Given the description of an element on the screen output the (x, y) to click on. 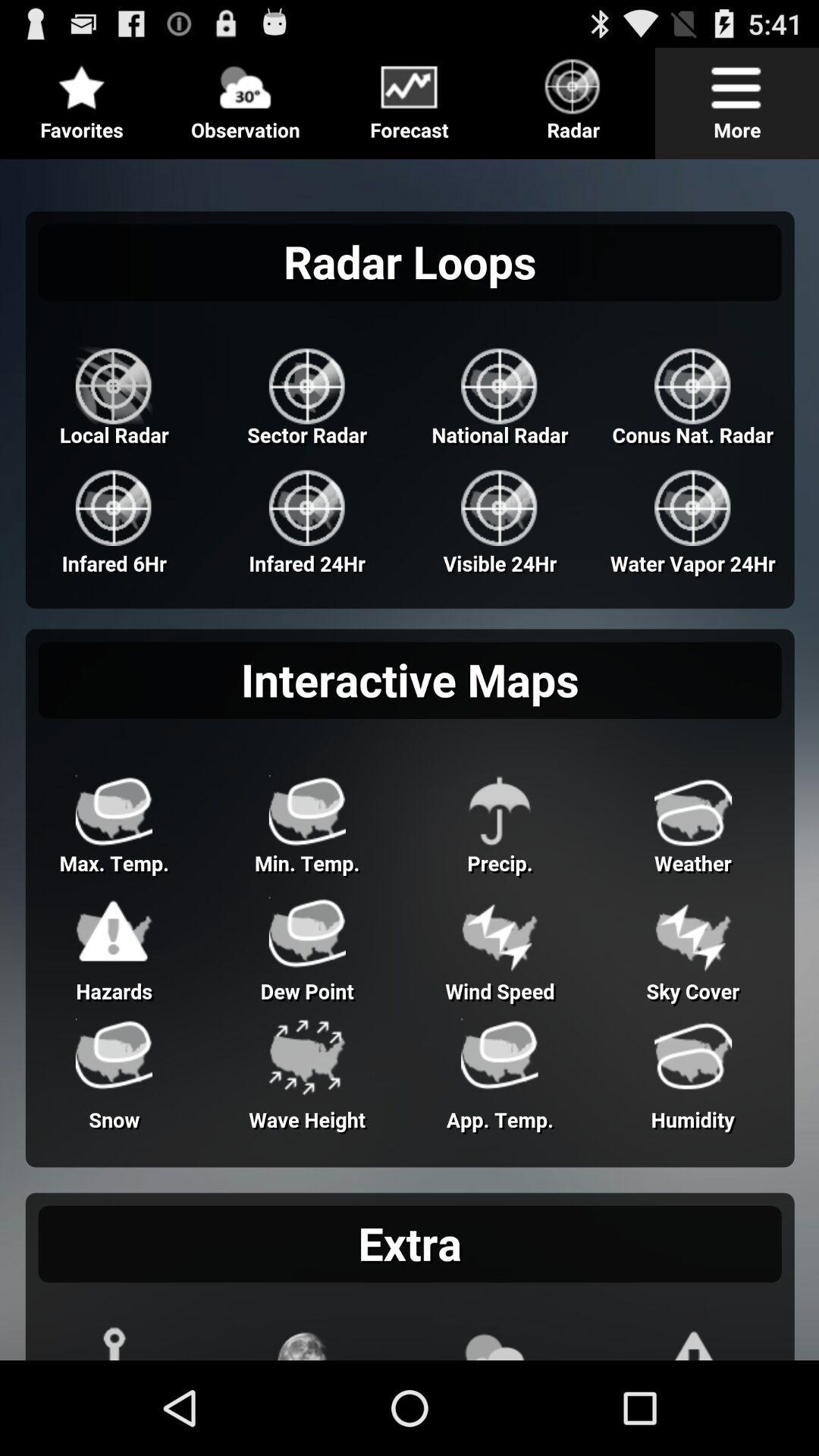
advertisement page (409, 753)
